Given the description of an element on the screen output the (x, y) to click on. 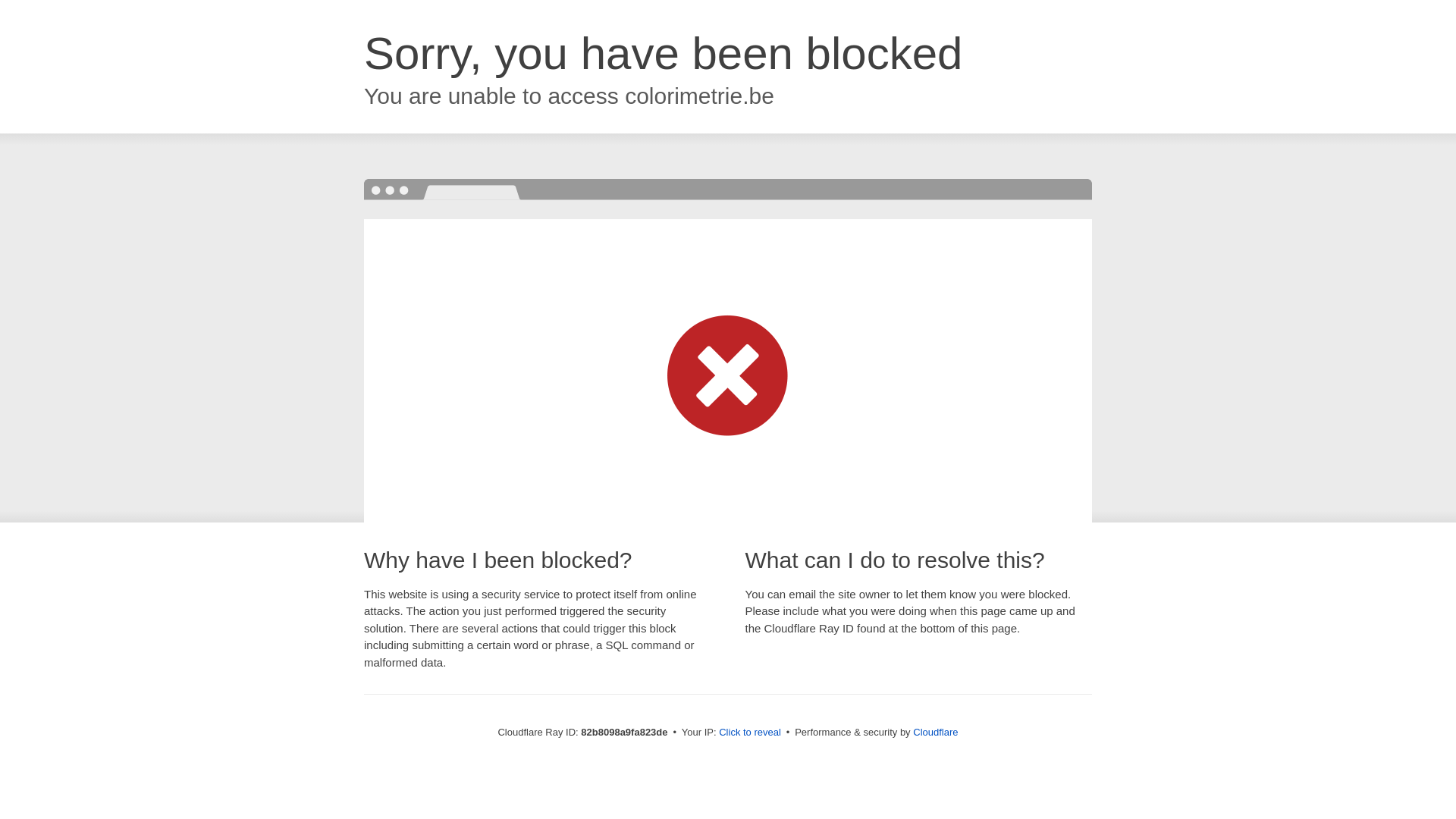
Cloudflare Element type: text (935, 731)
Click to reveal Element type: text (749, 732)
